Given the description of an element on the screen output the (x, y) to click on. 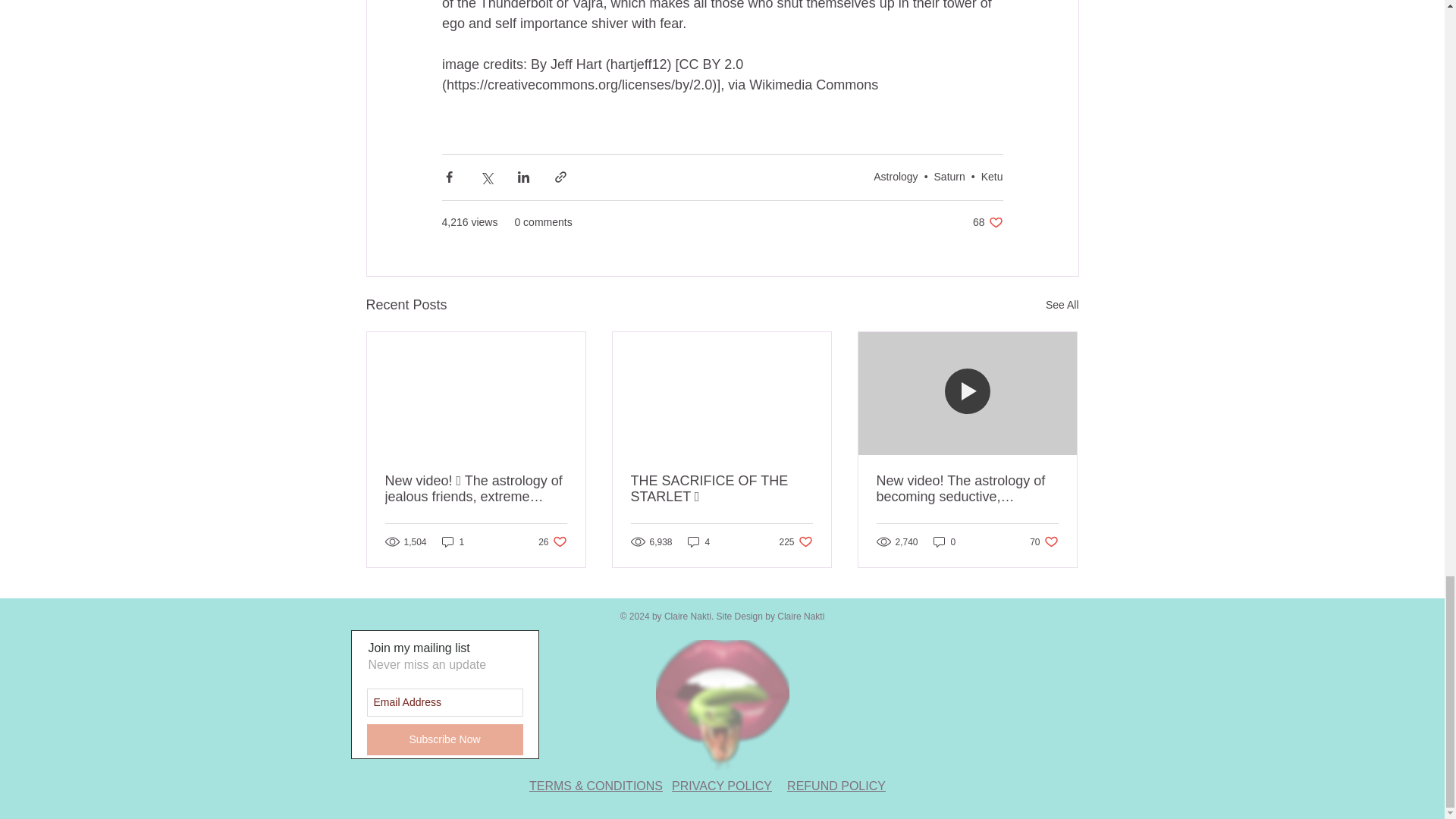
Subscribe Now (444, 739)
See All (987, 222)
Astrology (1061, 305)
4 (552, 541)
Ketu (1043, 541)
0 (895, 176)
